Given the description of an element on the screen output the (x, y) to click on. 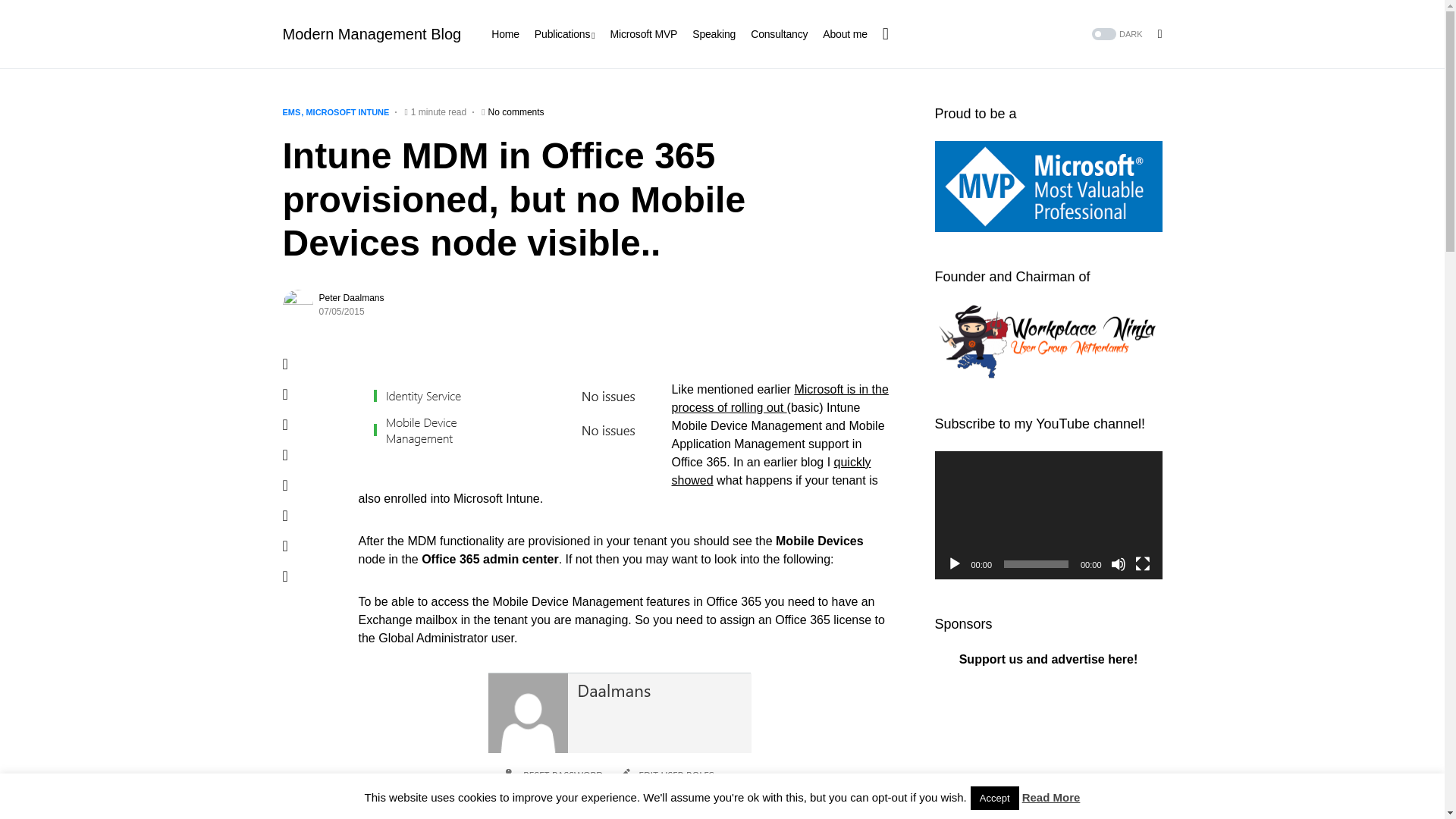
Play (953, 563)
Modern Management Blog (371, 33)
Fullscreen (1142, 563)
Microsoft MVP (643, 33)
Advertisement (1047, 753)
Mute (1117, 563)
